Given the description of an element on the screen output the (x, y) to click on. 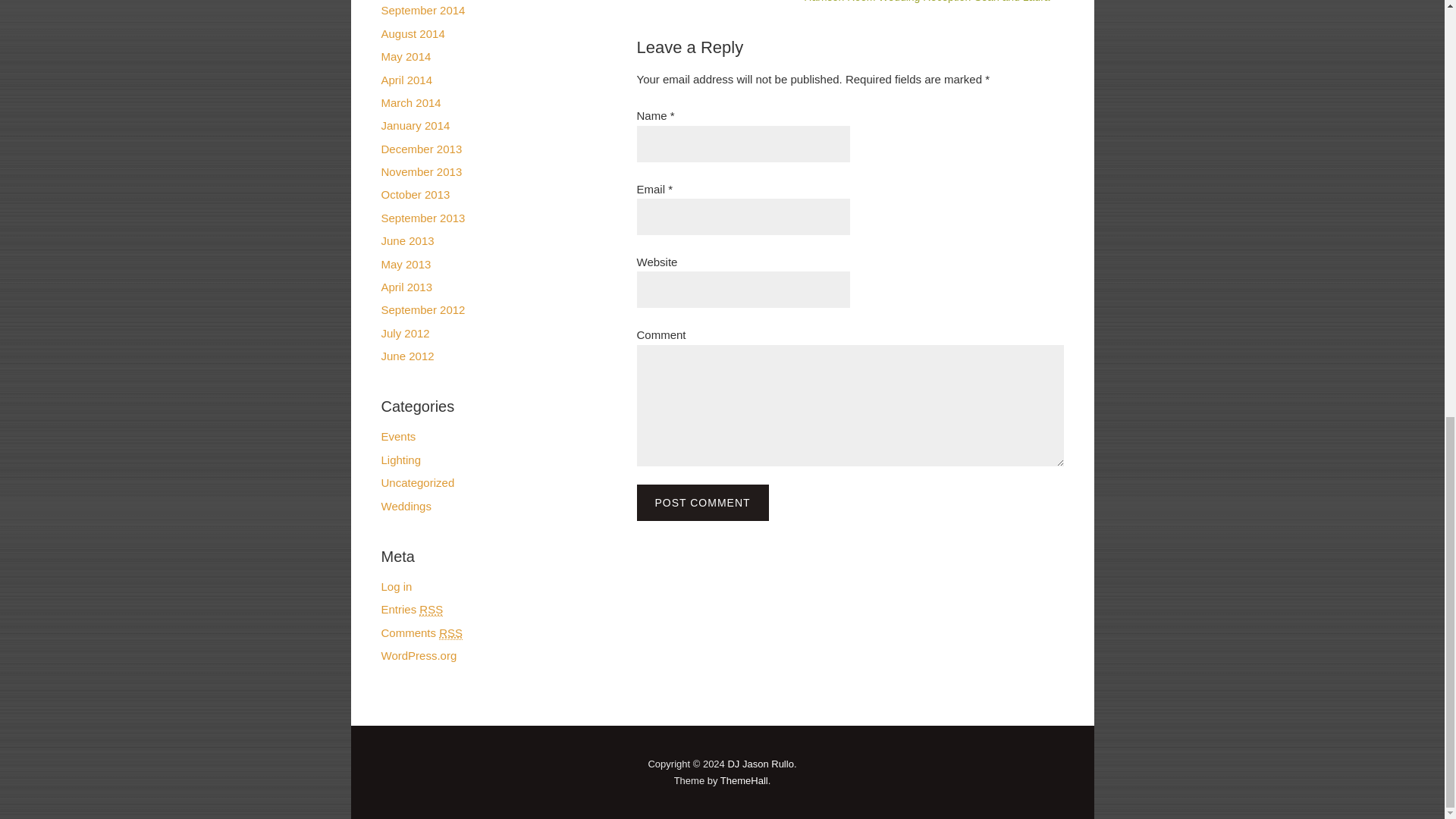
Post Comment (702, 502)
May 2014 (405, 56)
View all posts filed under Events (397, 436)
Post Comment (702, 502)
Syndicate this site using RSS 2.0 (411, 609)
View all posts filed under Lighting (400, 459)
View all posts filed under Weddings (405, 505)
View all posts filed under Uncategorized (417, 481)
August 2014 (412, 33)
September 2014 (422, 10)
